Given the description of an element on the screen output the (x, y) to click on. 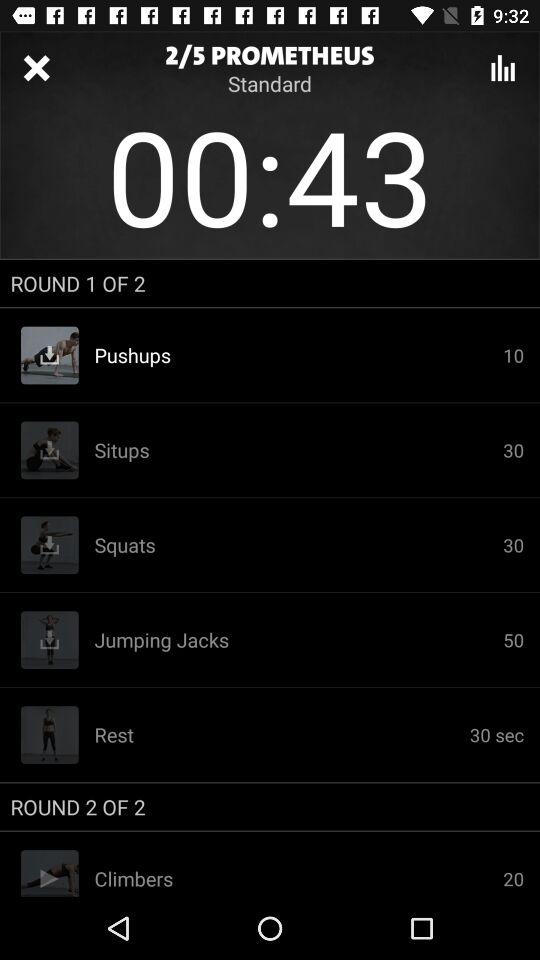
close window (36, 68)
